Given the description of an element on the screen output the (x, y) to click on. 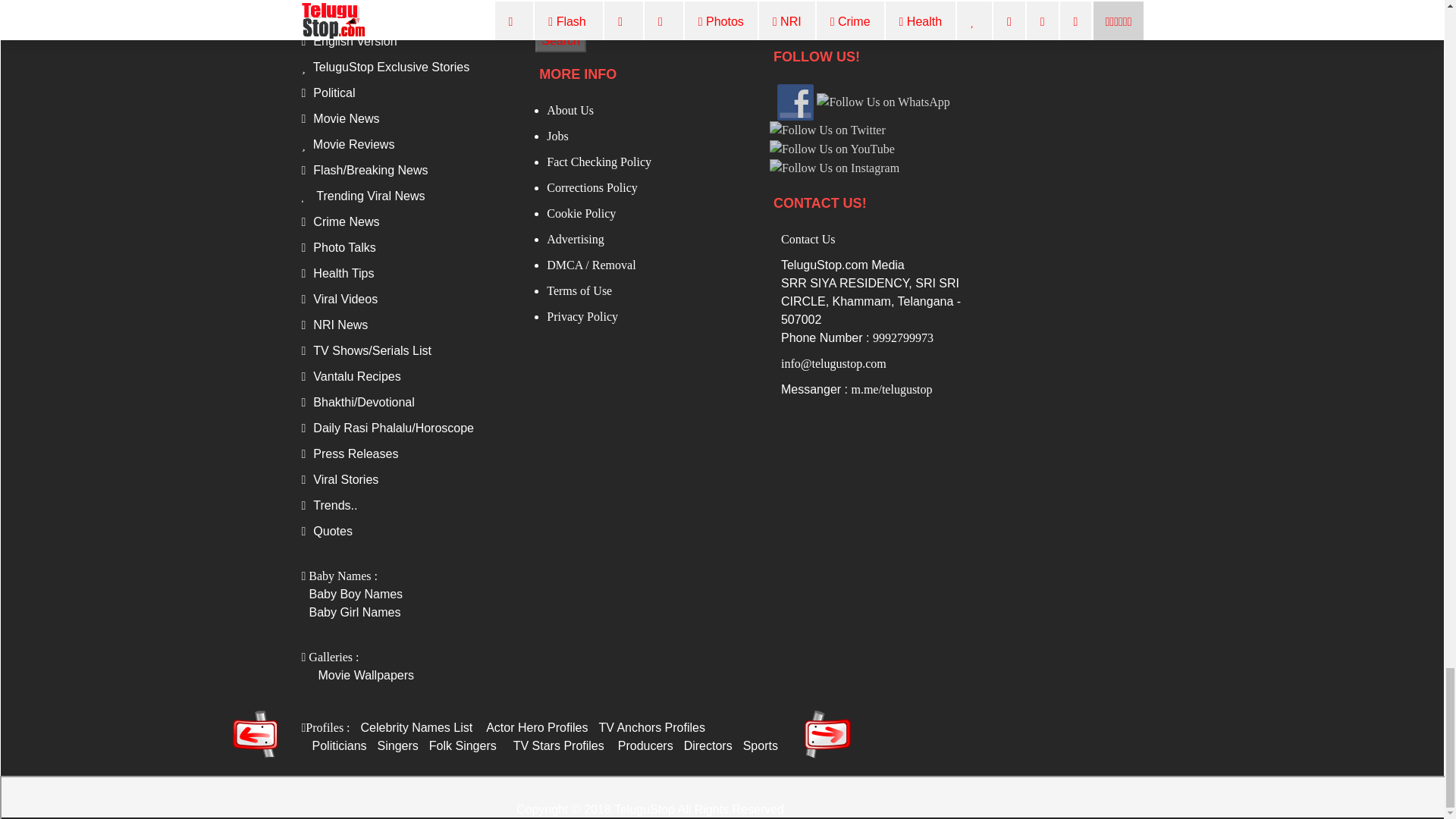
Search (560, 40)
